Given the description of an element on the screen output the (x, y) to click on. 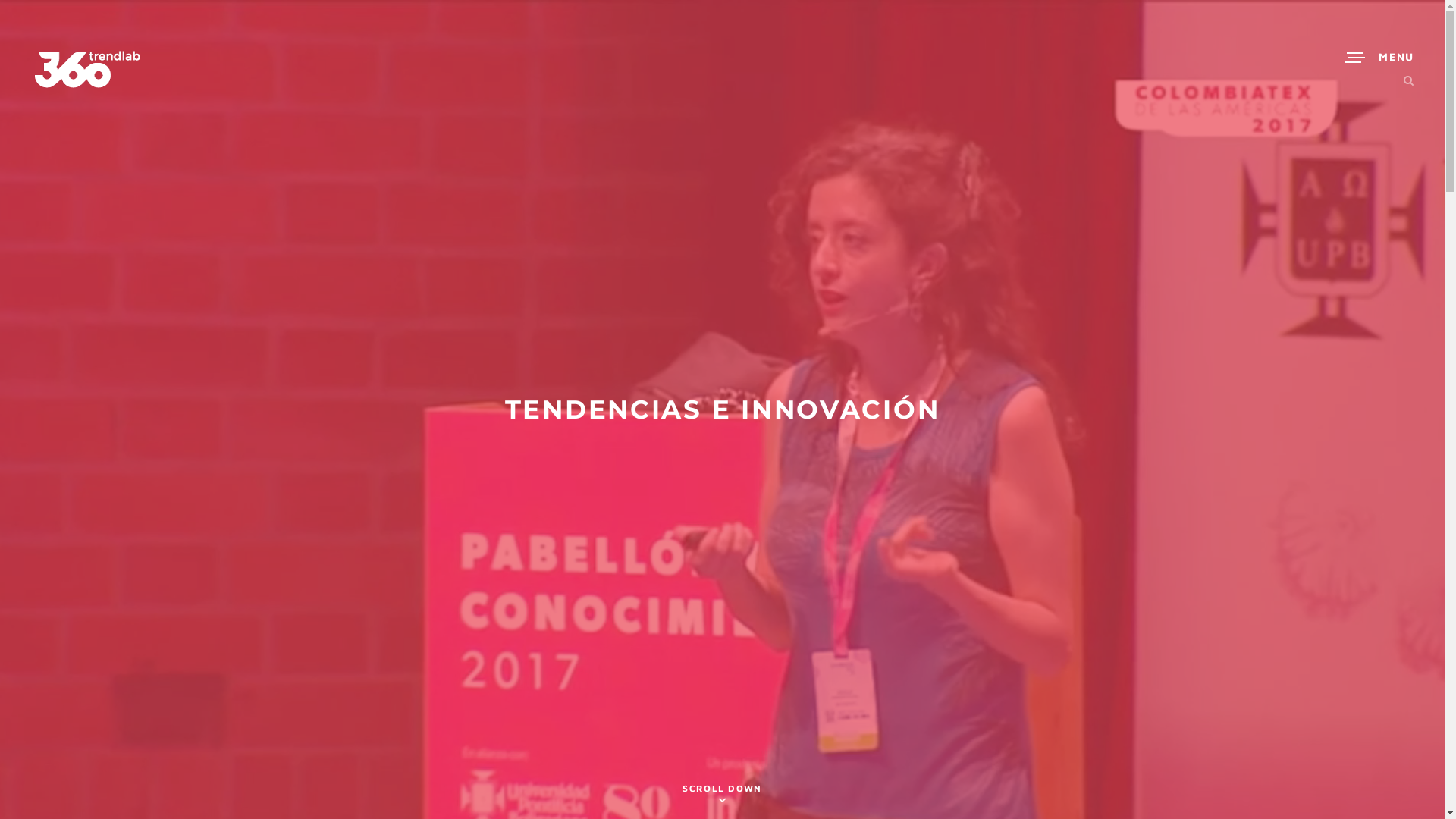
Search Element type: text (60, 18)
SCROLL DOWN Element type: text (721, 788)
MENU Element type: text (1381, 56)
